Given the description of an element on the screen output the (x, y) to click on. 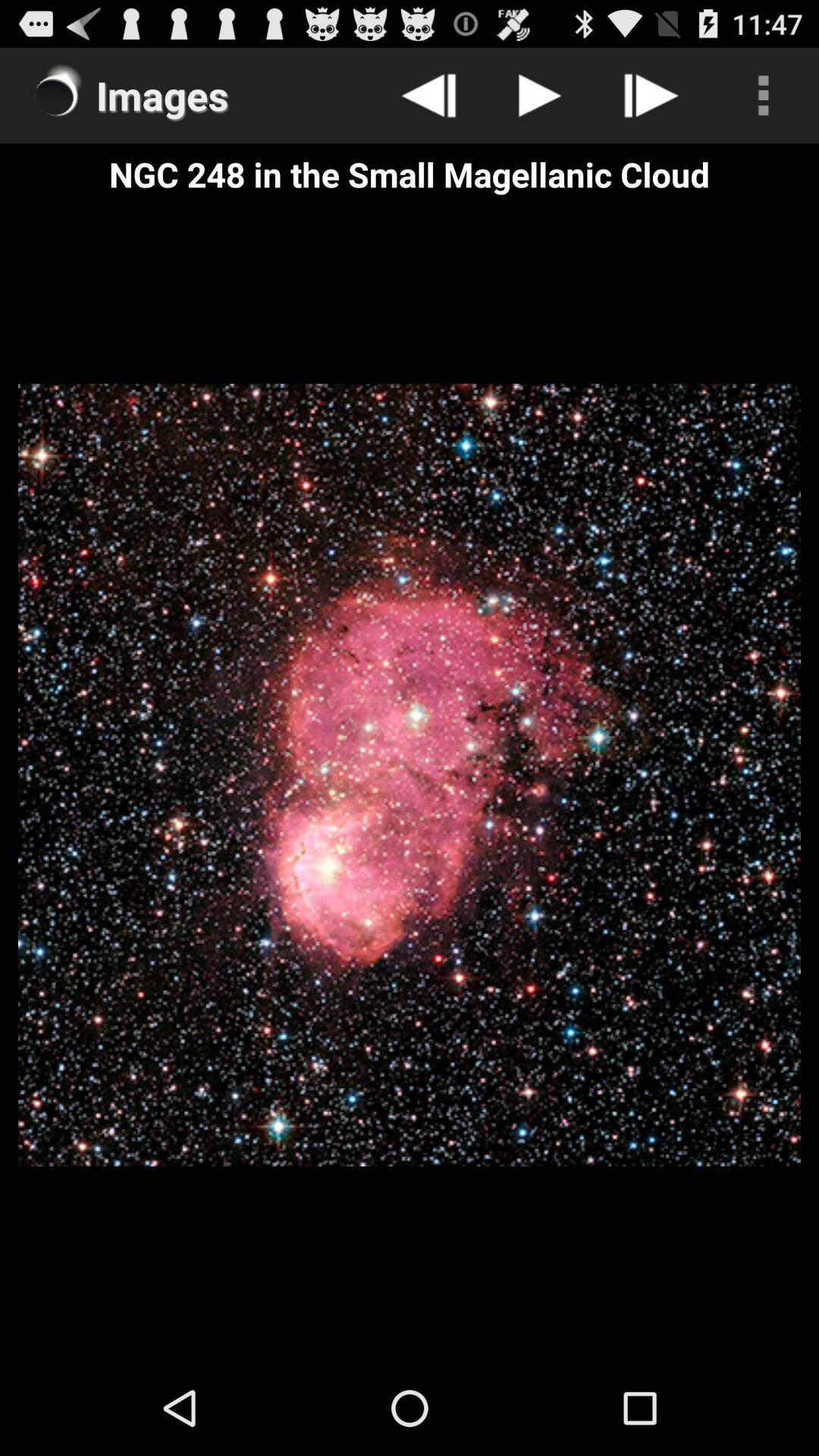
previous image (428, 95)
